Given the description of an element on the screen output the (x, y) to click on. 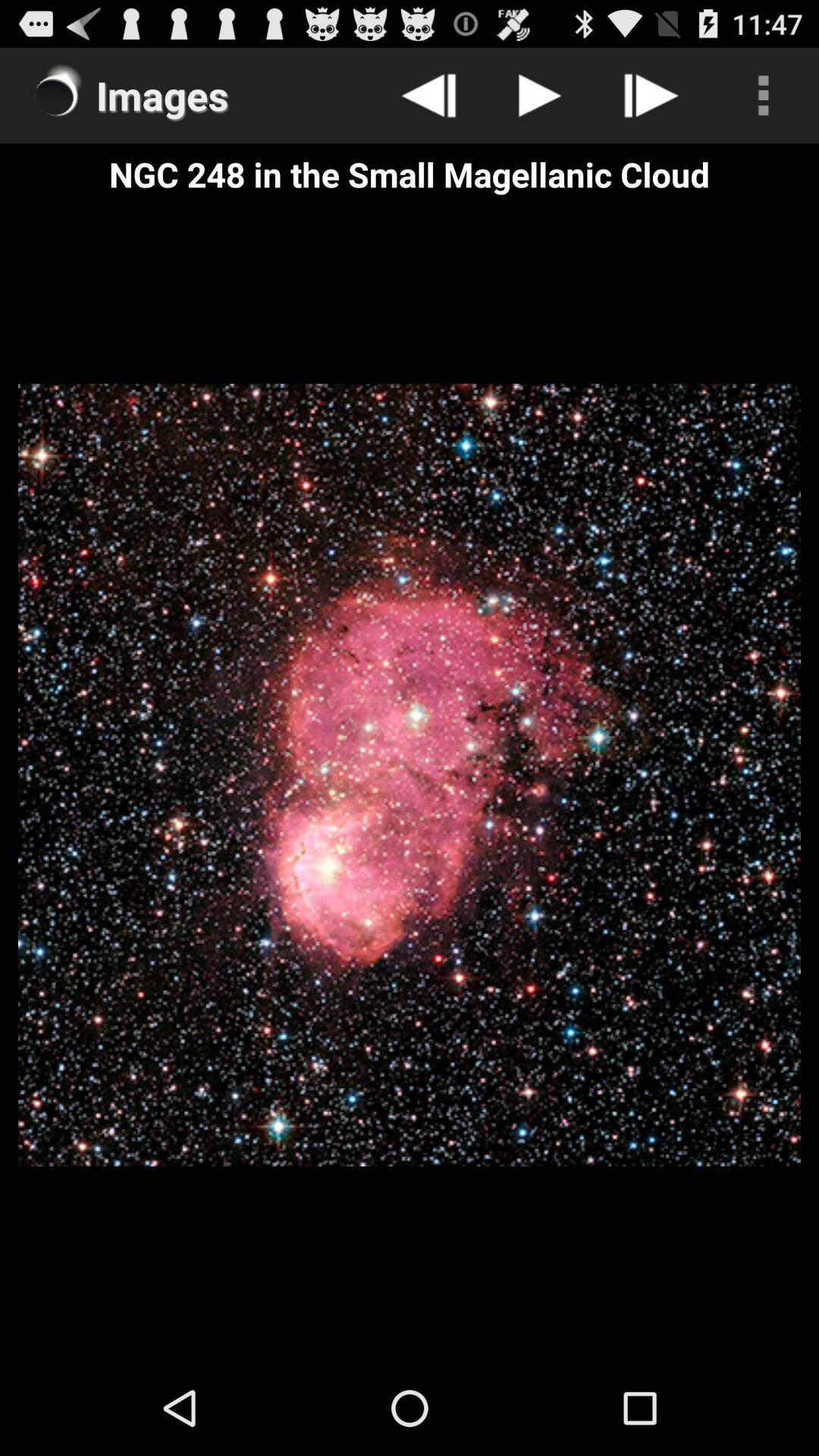
previous image (428, 95)
